Given the description of an element on the screen output the (x, y) to click on. 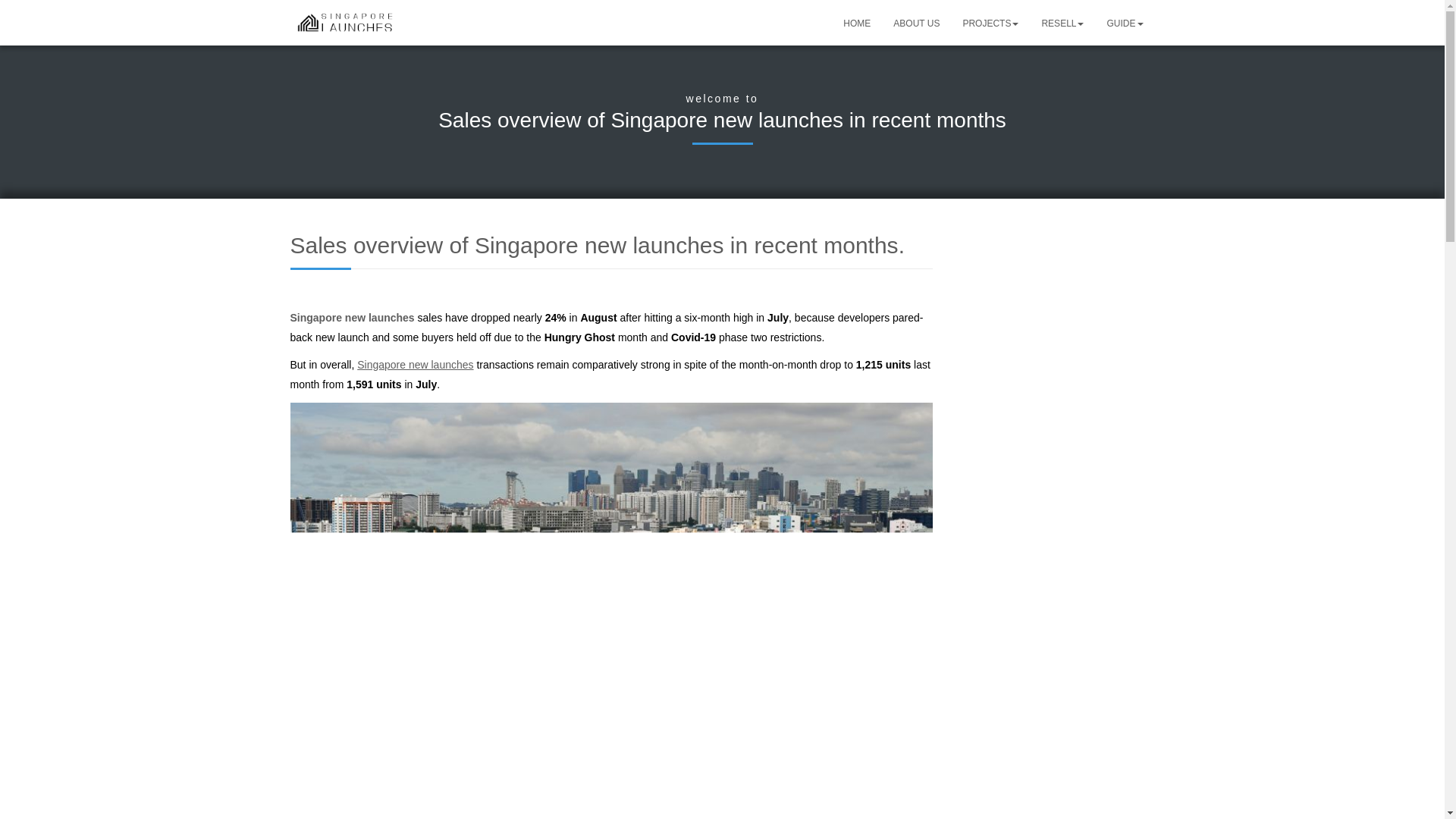
ABOUT US (916, 22)
Singapore new launches (352, 317)
GUIDE (1124, 22)
Singapore new launches (414, 364)
PROJECTS (989, 22)
HOME (856, 22)
RESELL (1061, 22)
